Given the description of an element on the screen output the (x, y) to click on. 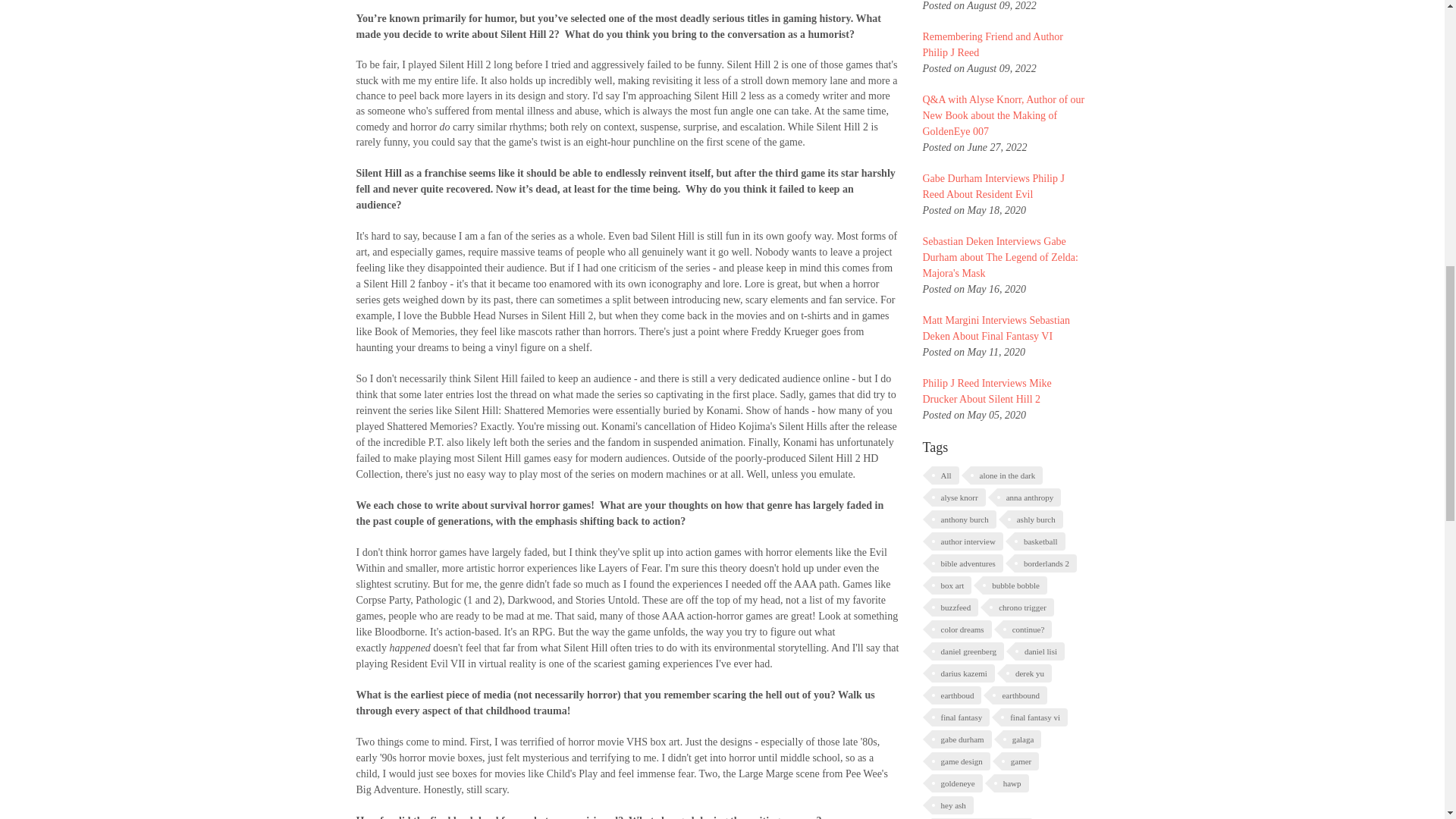
Show articles tagged chrono trigger (1022, 607)
Show articles tagged bible adventures (967, 563)
Show articles tagged borderlands 2 (1045, 563)
Show articles tagged basketball (1039, 541)
Show articles tagged bubble bobble (1014, 585)
Show articles tagged alyse knorr (958, 497)
Show articles tagged ashly burch (1034, 519)
Show articles tagged buzzfeed (954, 607)
Show articles tagged color dreams (961, 628)
Show articles tagged box art (951, 585)
Show articles tagged author interview (967, 541)
Show articles tagged anna anthropy (1029, 497)
Show articles tagged daniel greenberg (967, 651)
Show articles tagged alone in the dark (1007, 475)
Show articles tagged continue? (1027, 628)
